Given the description of an element on the screen output the (x, y) to click on. 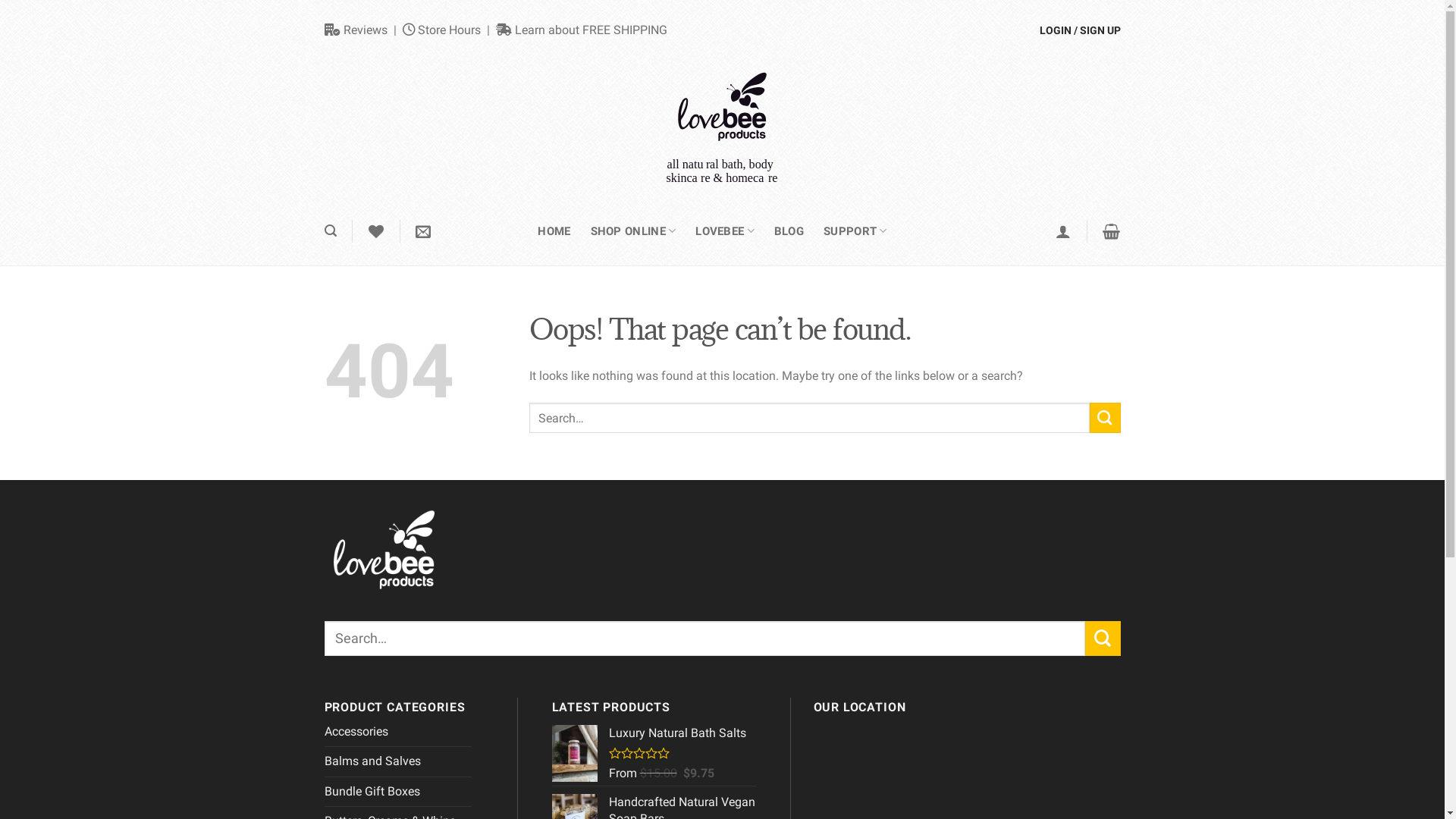
LOGIN / SIGN UP Element type: text (1086, 30)
Balms and Salves Element type: text (397, 760)
Cart Element type: hover (1111, 230)
Bundle Gift Boxes Element type: text (397, 791)
LOVEBEE Element type: text (724, 231)
Store Hours Element type: text (440, 29)
Sign up for Newsletter Element type: hover (422, 230)
Accessories Element type: text (397, 731)
Reviews Element type: text (355, 29)
SUPPORT Element type: text (855, 231)
Luxury Natural Bath Salts Element type: text (681, 732)
BLOG Element type: text (788, 231)
HOME Element type: text (553, 231)
Learn about FREE SHIPPING Element type: text (581, 29)
SHOP ONLINE Element type: text (633, 231)
Search Element type: text (1102, 637)
